Given the description of an element on the screen output the (x, y) to click on. 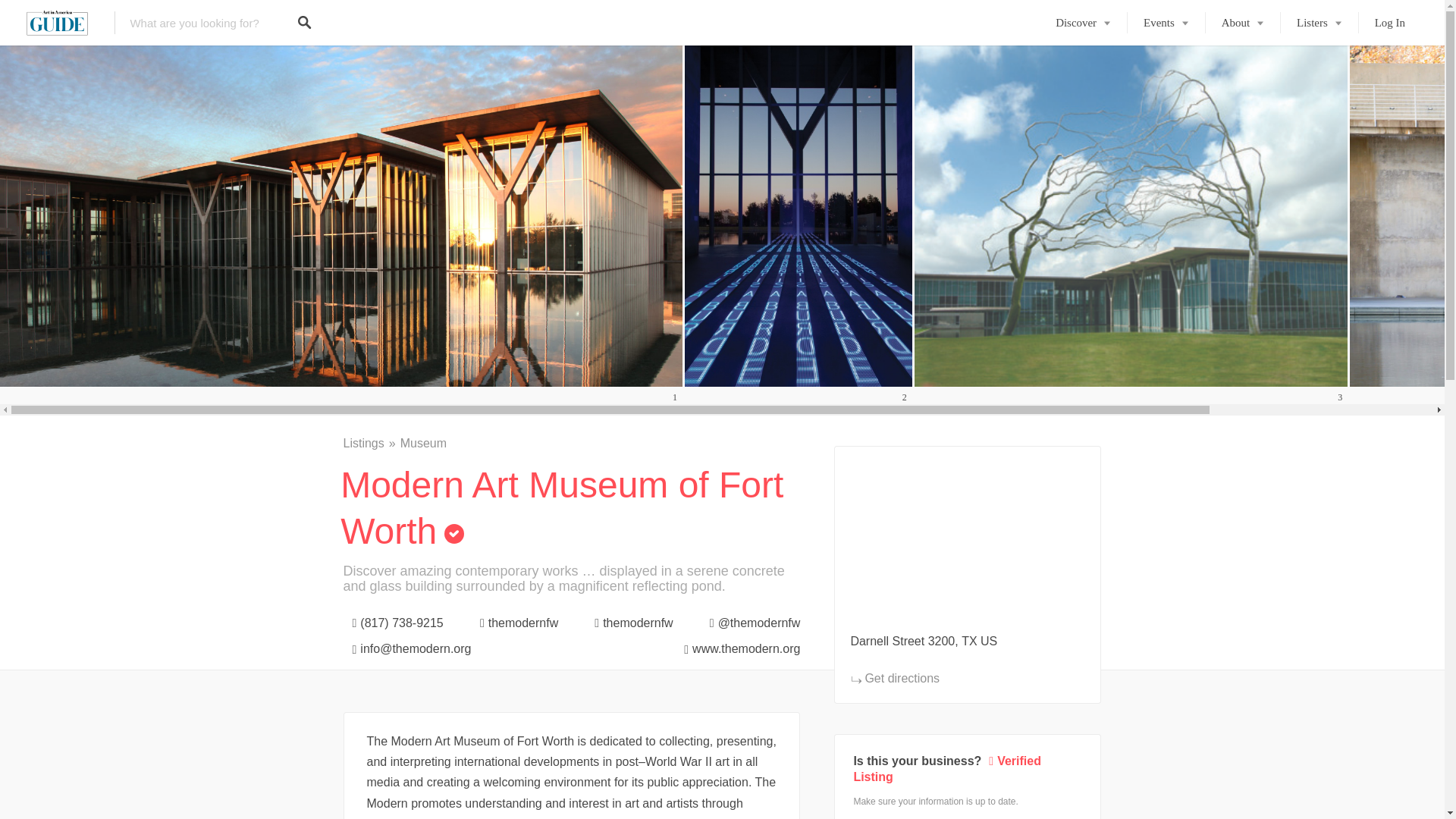
Discover (1082, 22)
